Given the description of an element on the screen output the (x, y) to click on. 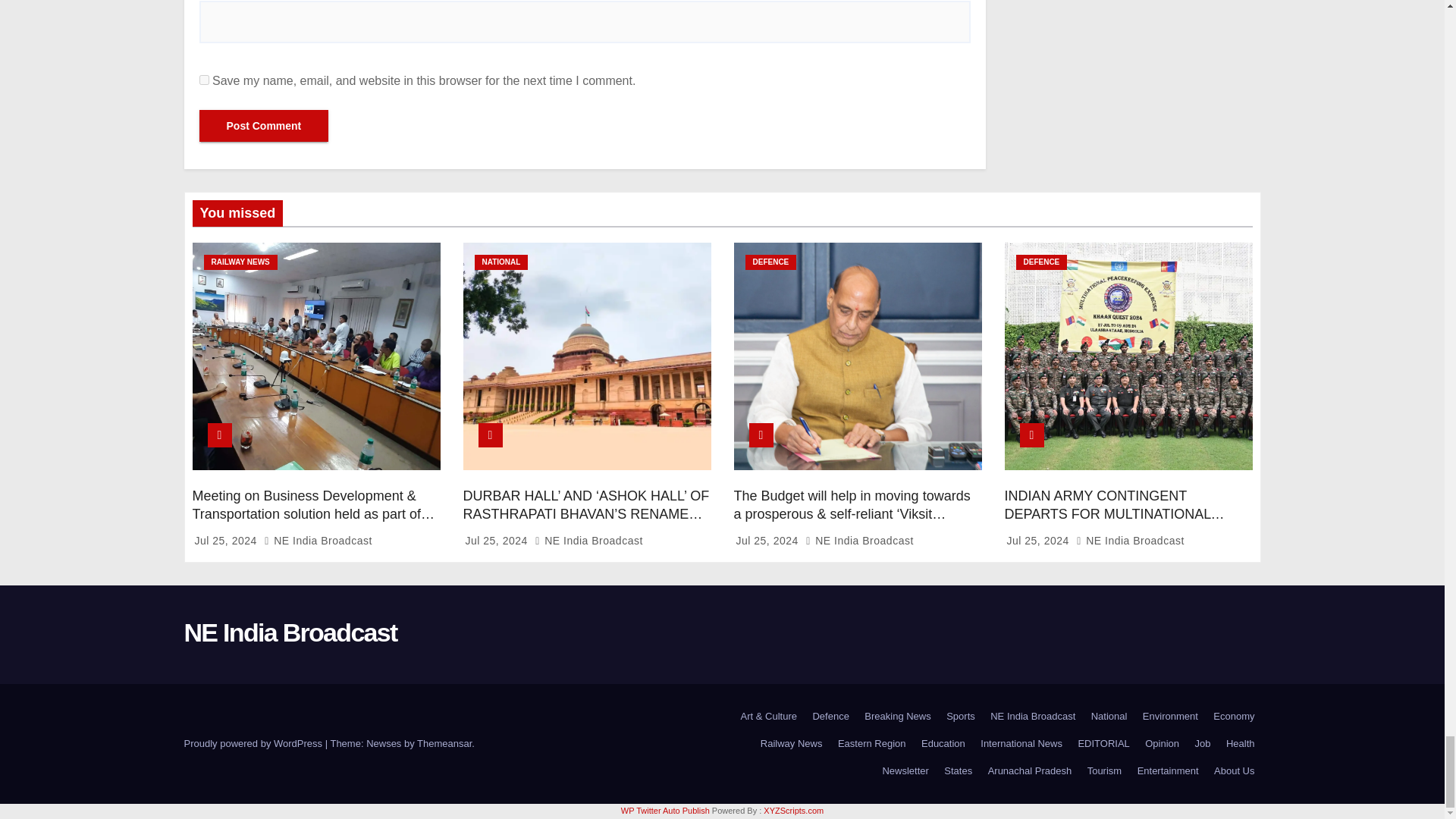
Post Comment (263, 125)
yes (203, 80)
